Given the description of an element on the screen output the (x, y) to click on. 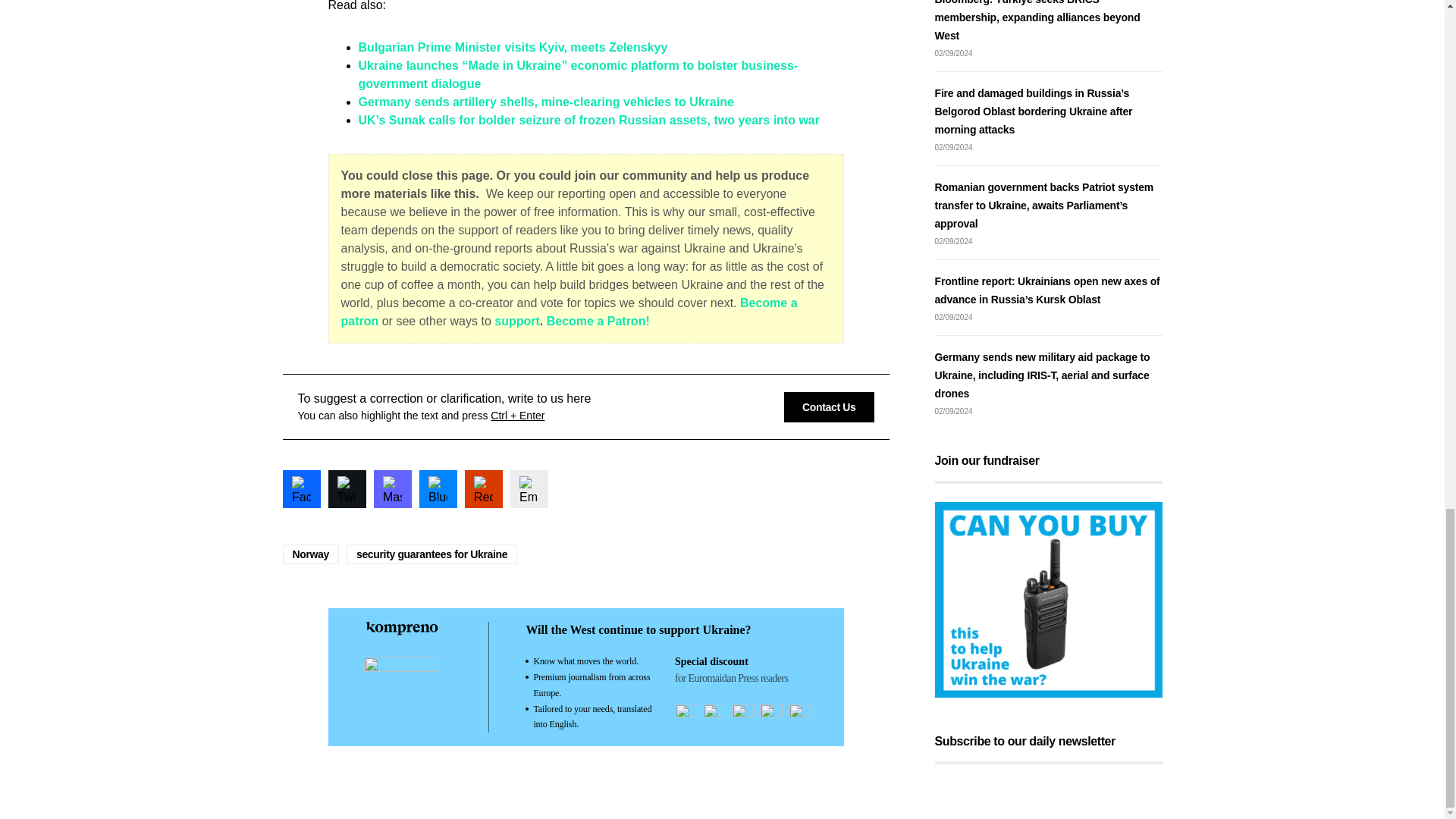
Share to Twitter (346, 488)
Share to Email (528, 488)
Share to Facebook (301, 488)
Share to Mastodon (391, 488)
Share to Bluesky (438, 488)
Share to Reddit (483, 488)
